Given the description of an element on the screen output the (x, y) to click on. 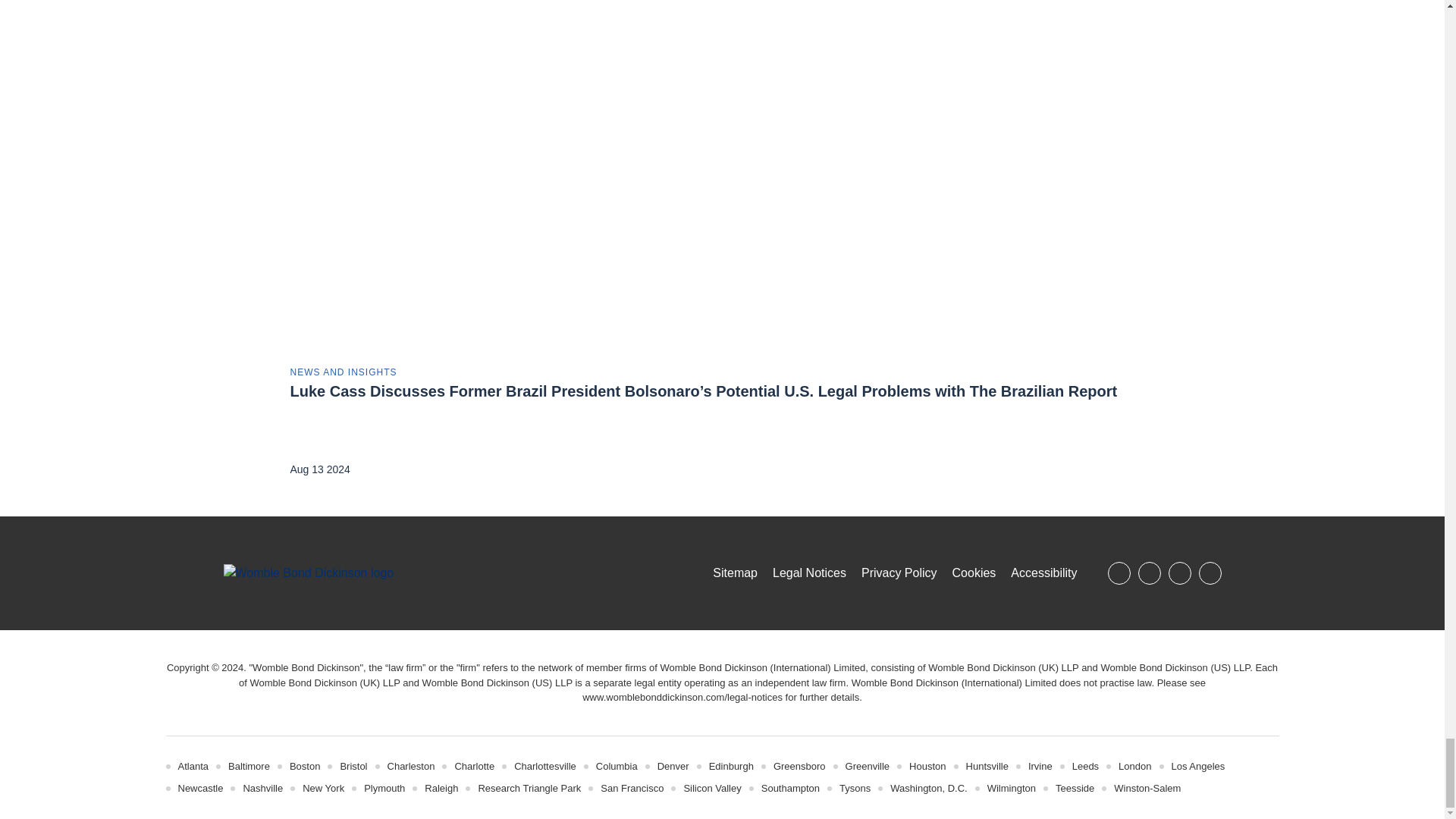
Legal Notices (682, 696)
Atlanta, GA, US (192, 766)
Edinburgh (731, 766)
Columbia, SC, US (616, 766)
Charlotte, NC, US (474, 766)
Houston, TX, US (926, 766)
Greenville, SC, US (867, 766)
Charlottesville, VA, US (544, 766)
Bristol (352, 766)
Leeds (1085, 766)
